Given the description of an element on the screen output the (x, y) to click on. 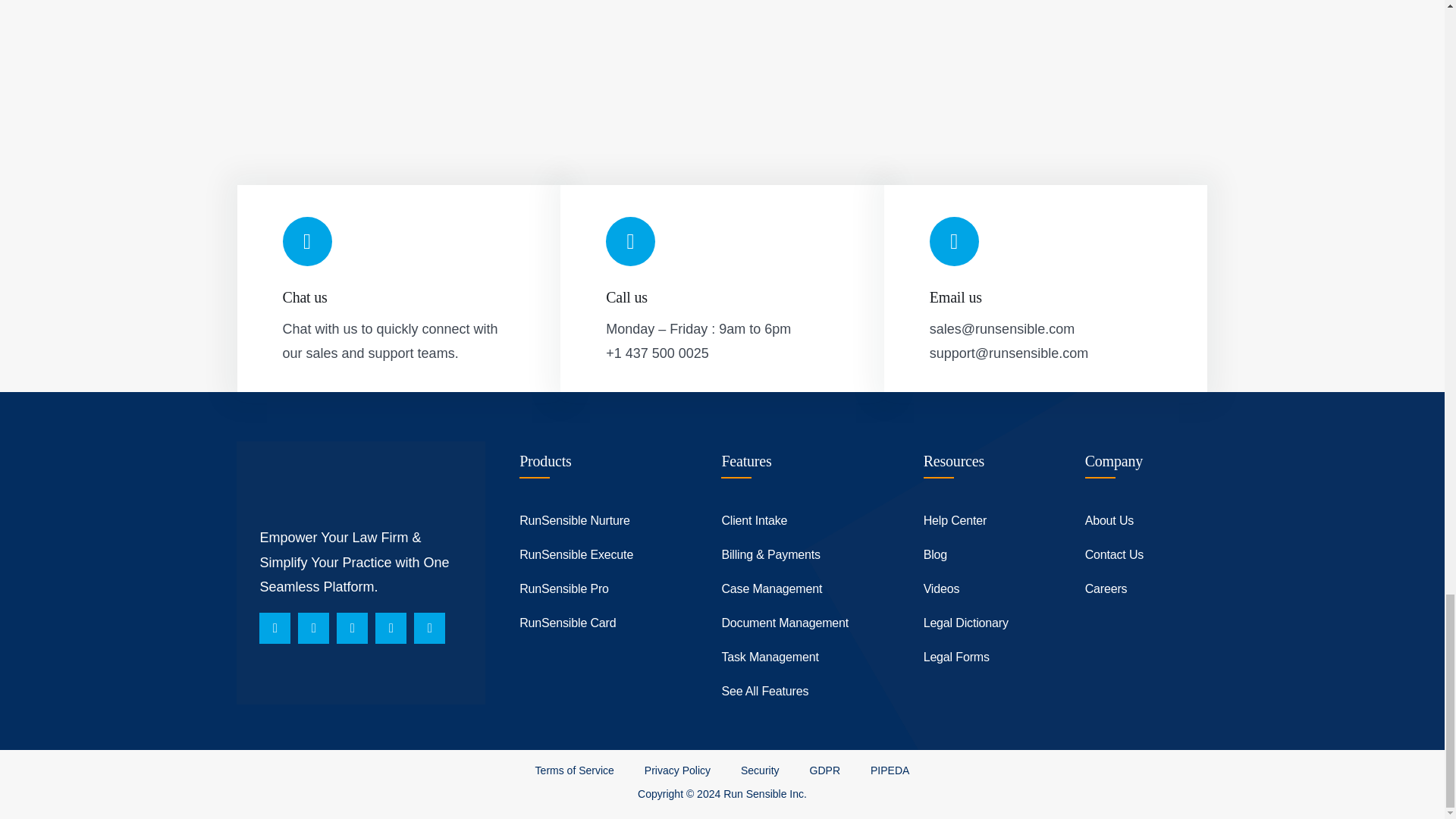
Facebook (274, 627)
Instagram (313, 627)
X (352, 627)
LinkedIn (429, 627)
YouTube (390, 627)
